Given the description of an element on the screen output the (x, y) to click on. 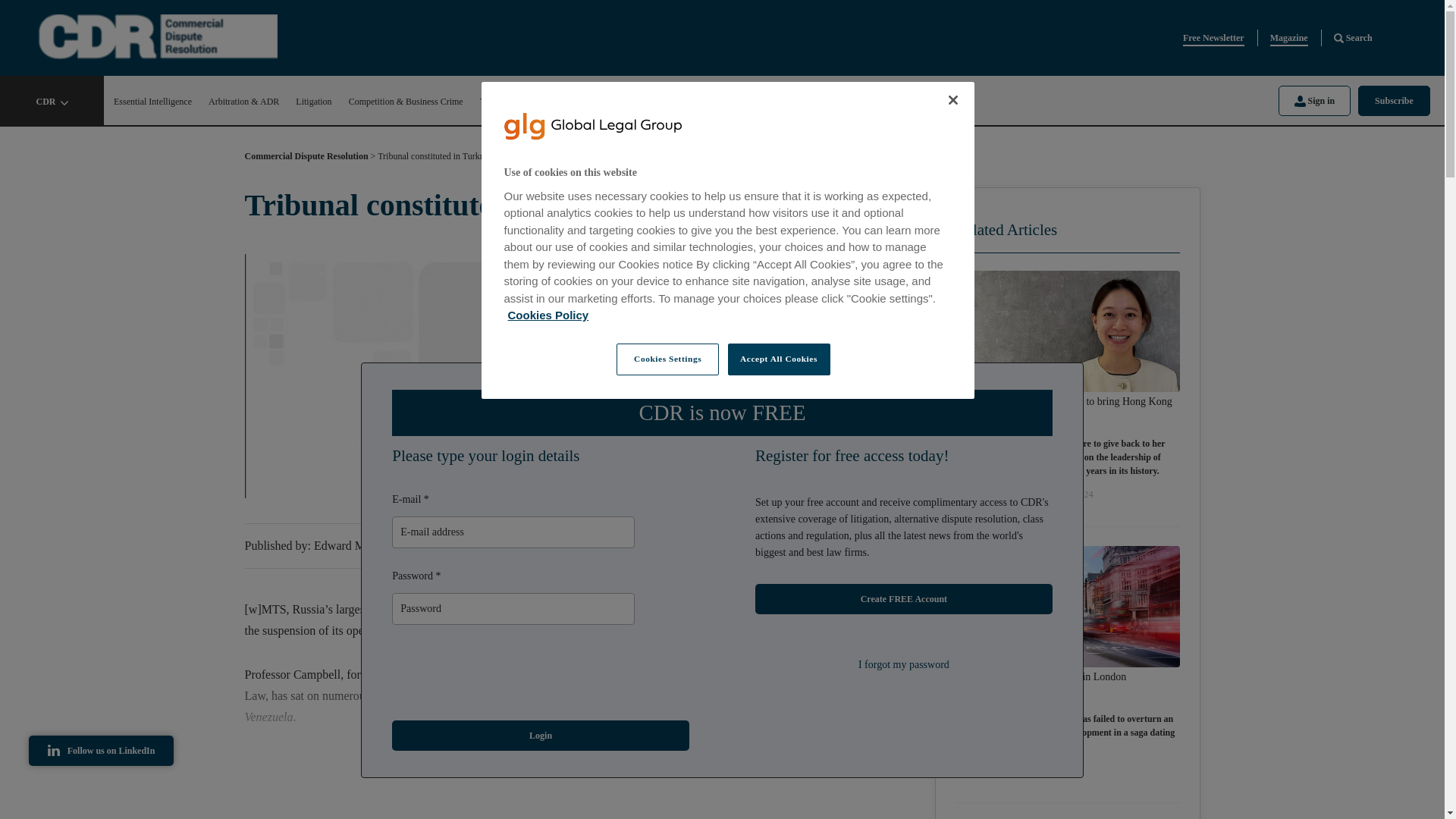
I forgot my password (904, 664)
Sign in (1314, 100)
Search (1353, 37)
Magazine (1288, 37)
Third-Party Finance (516, 101)
Conferences (732, 101)
Essential Intelligence (152, 101)
Commercial Dispute Resolution (306, 159)
Subscribe (1393, 100)
Create FREE Account (903, 598)
